Given the description of an element on the screen output the (x, y) to click on. 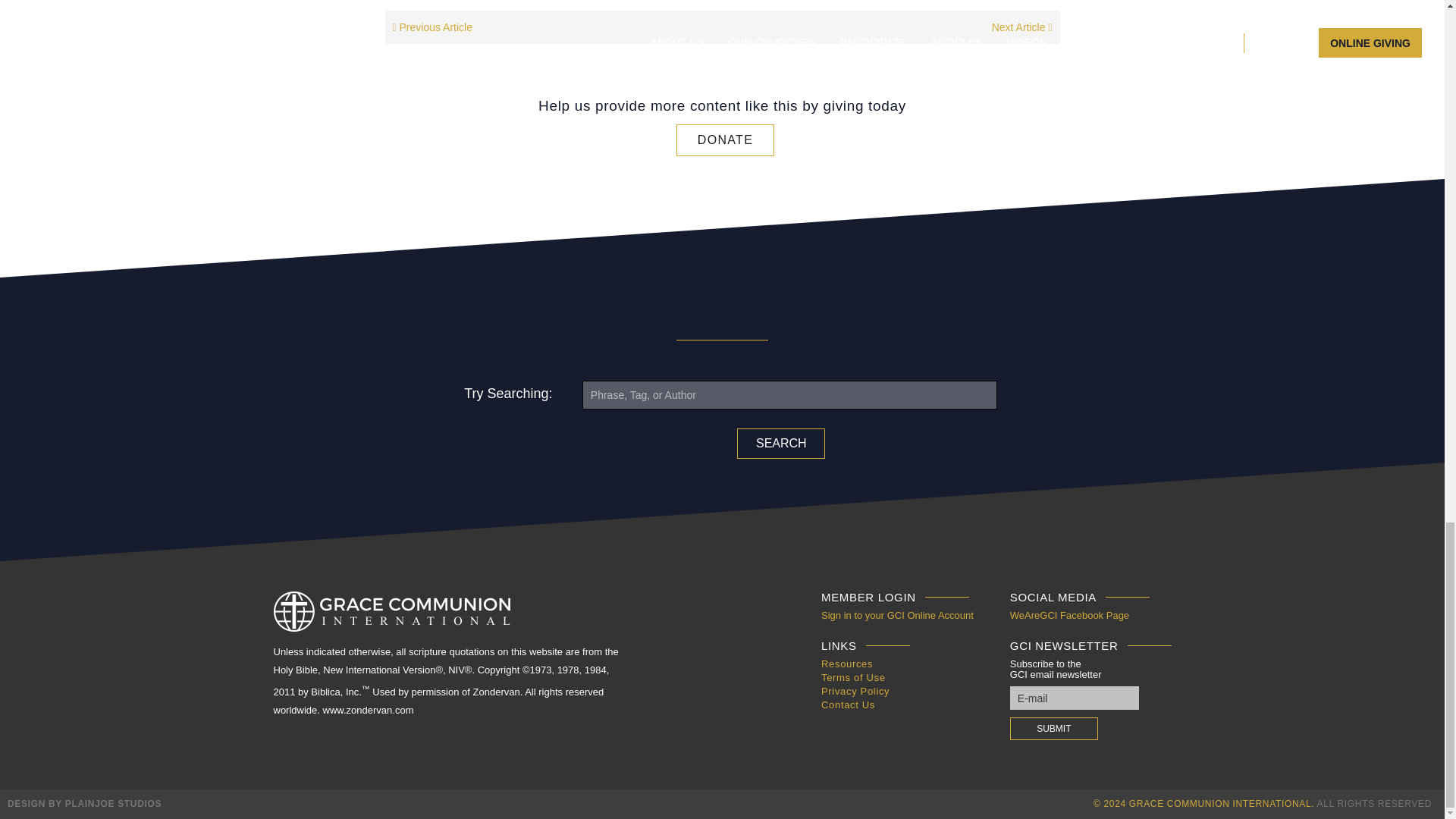
Search (780, 443)
Design by Plain Joe Studios (84, 803)
Submit (1053, 728)
